Given the description of an element on the screen output the (x, y) to click on. 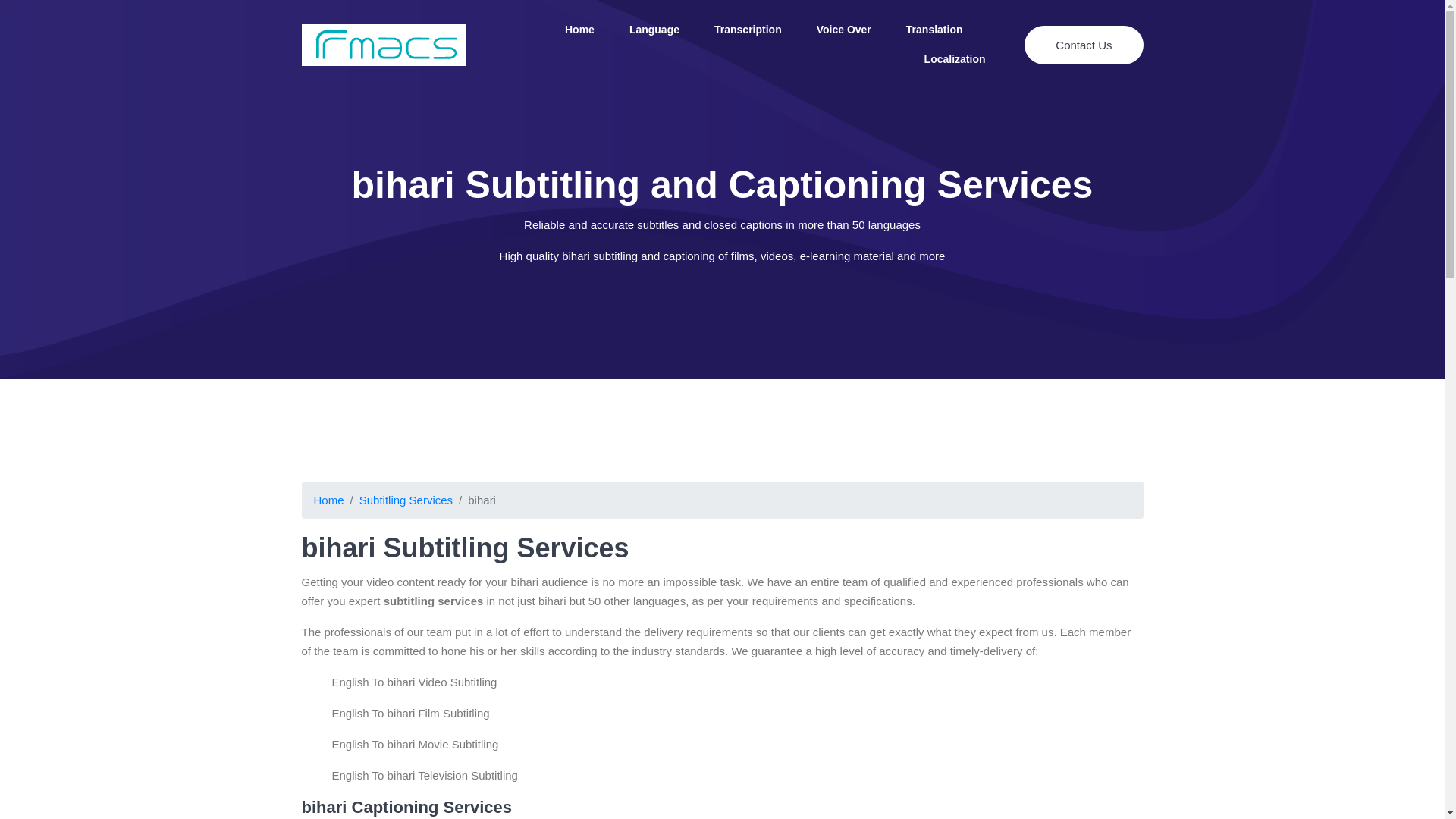
Transcription (747, 30)
Voice Over (843, 30)
Translation (934, 30)
Home (579, 30)
Language (654, 30)
